Given the description of an element on the screen output the (x, y) to click on. 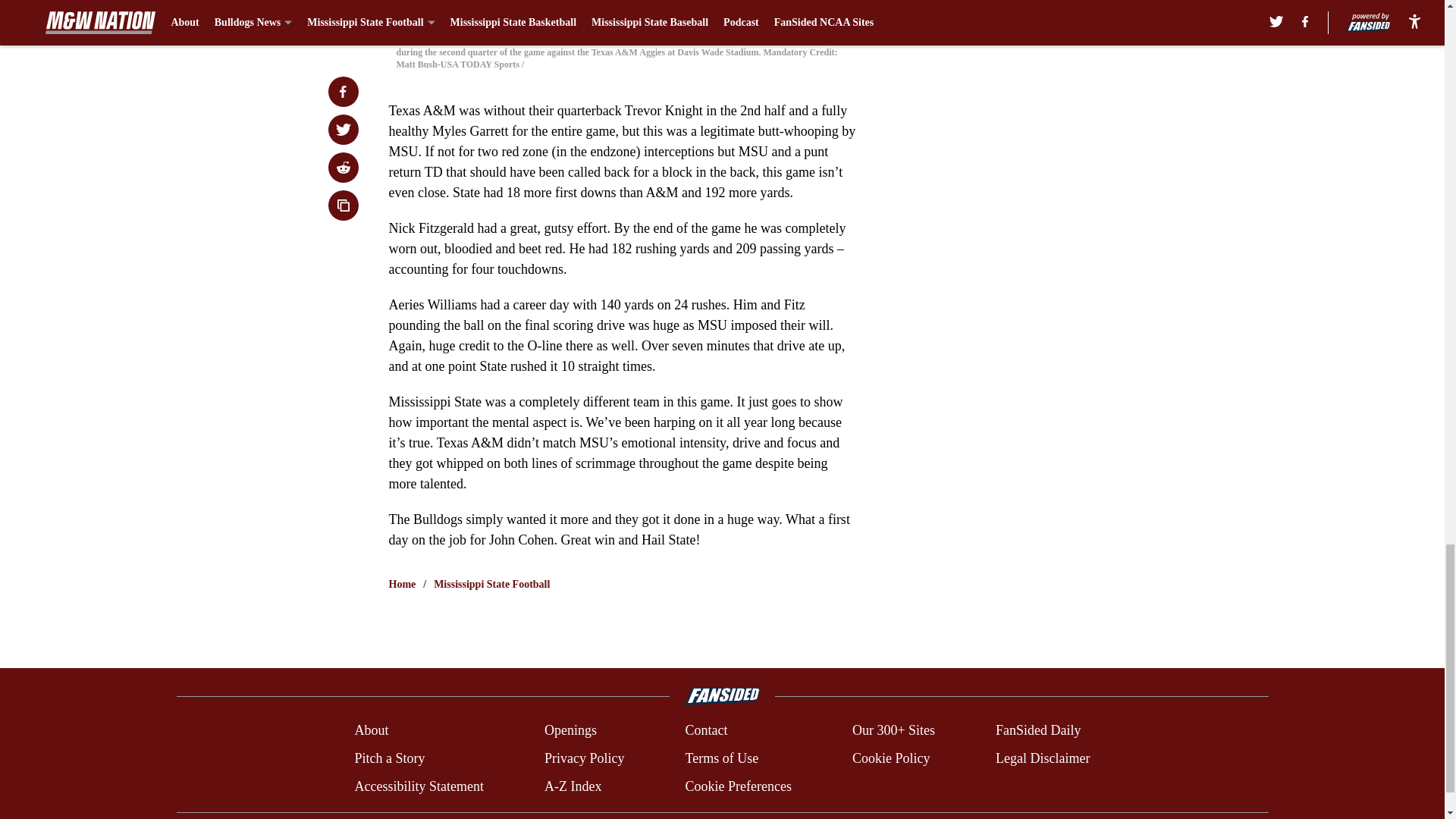
Openings (570, 730)
Accessibility Statement (418, 786)
Legal Disclaimer (1042, 758)
Home (401, 584)
Privacy Policy (584, 758)
Cookie Preferences (737, 786)
Mississippi State Football (491, 584)
Pitch a Story (389, 758)
Terms of Use (721, 758)
Contact (705, 730)
